Given the description of an element on the screen output the (x, y) to click on. 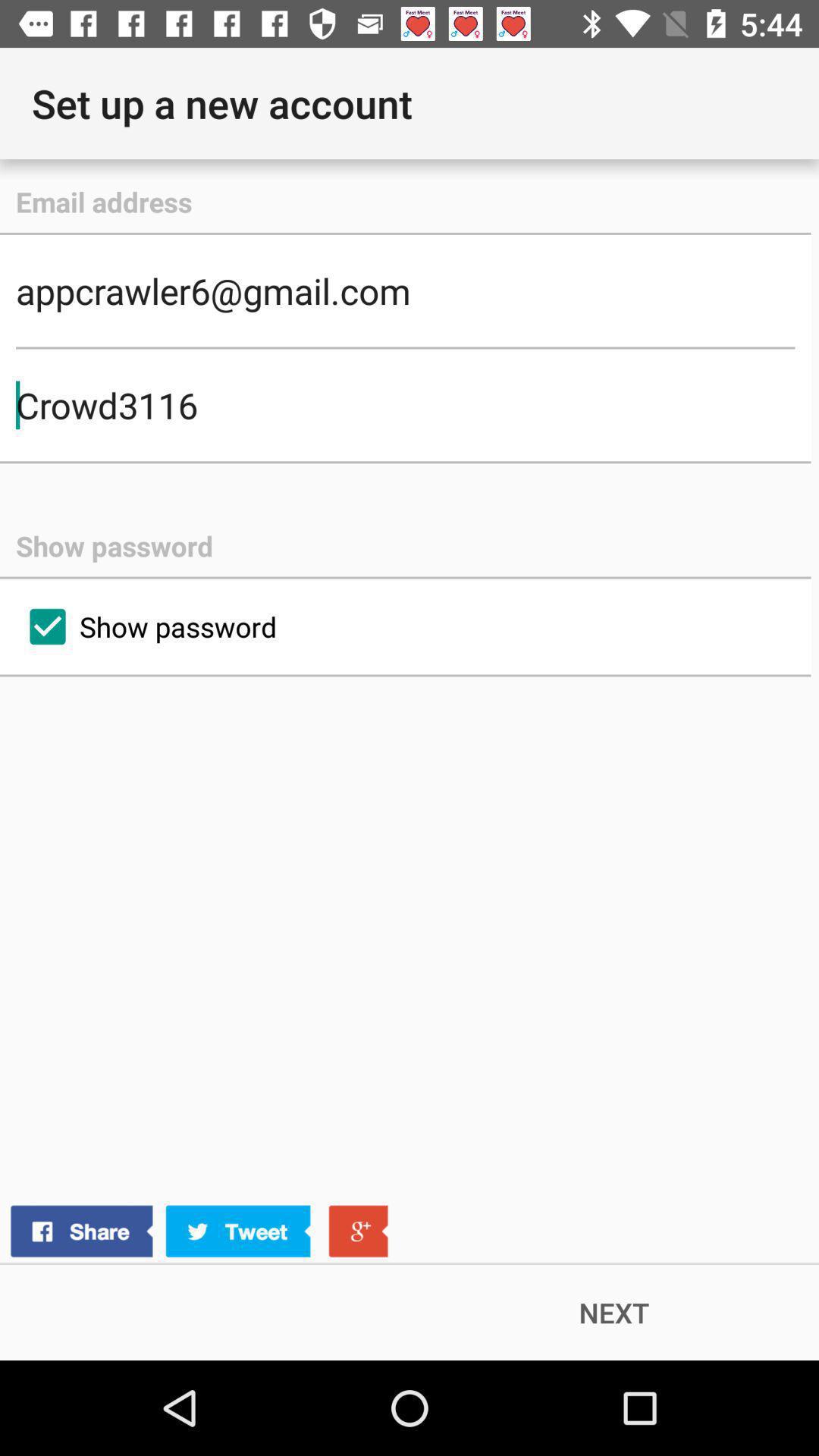
jump to appcrawler6@gmail.com icon (405, 290)
